Given the description of an element on the screen output the (x, y) to click on. 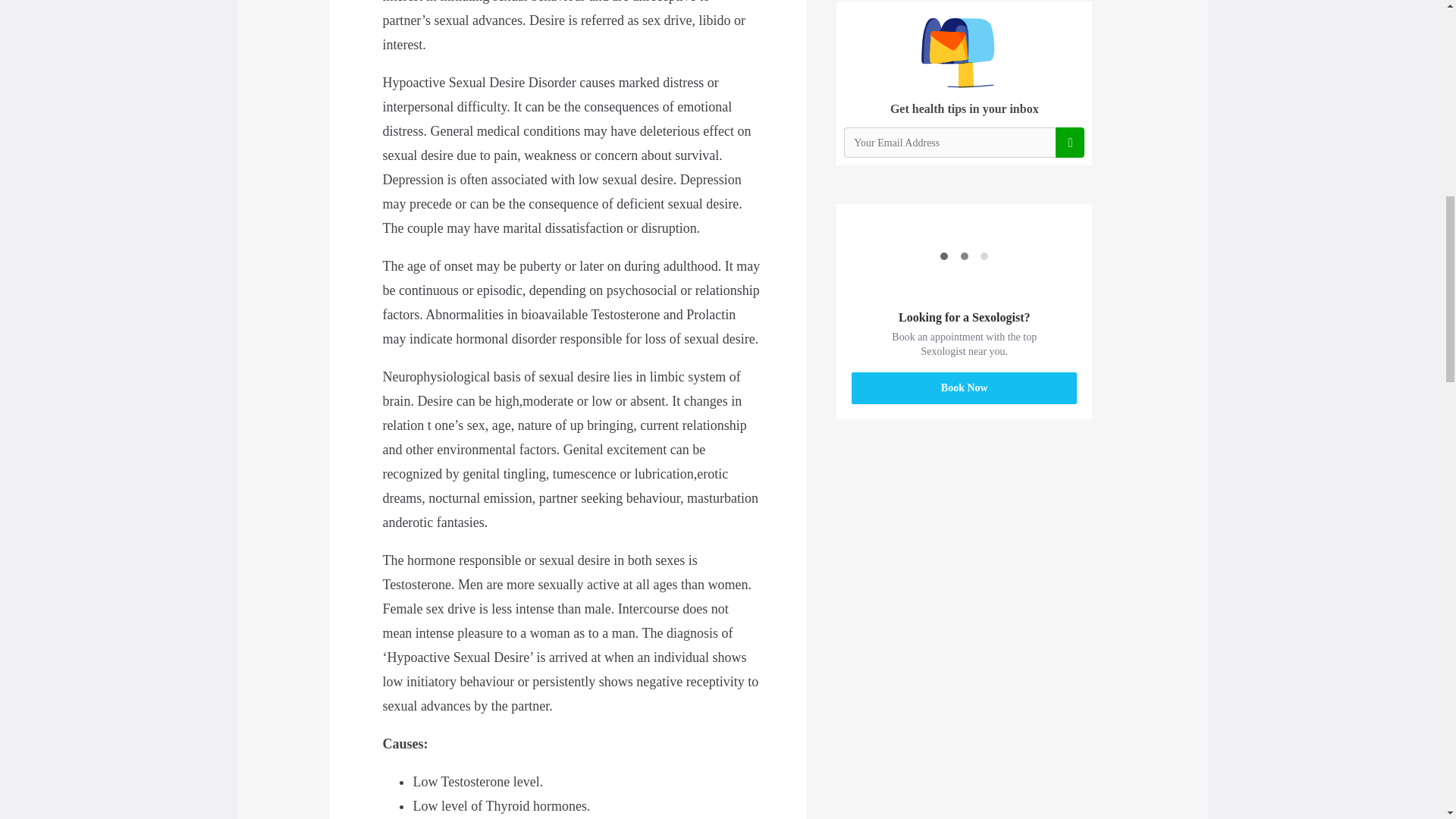
Book Now (964, 388)
